Given the description of an element on the screen output the (x, y) to click on. 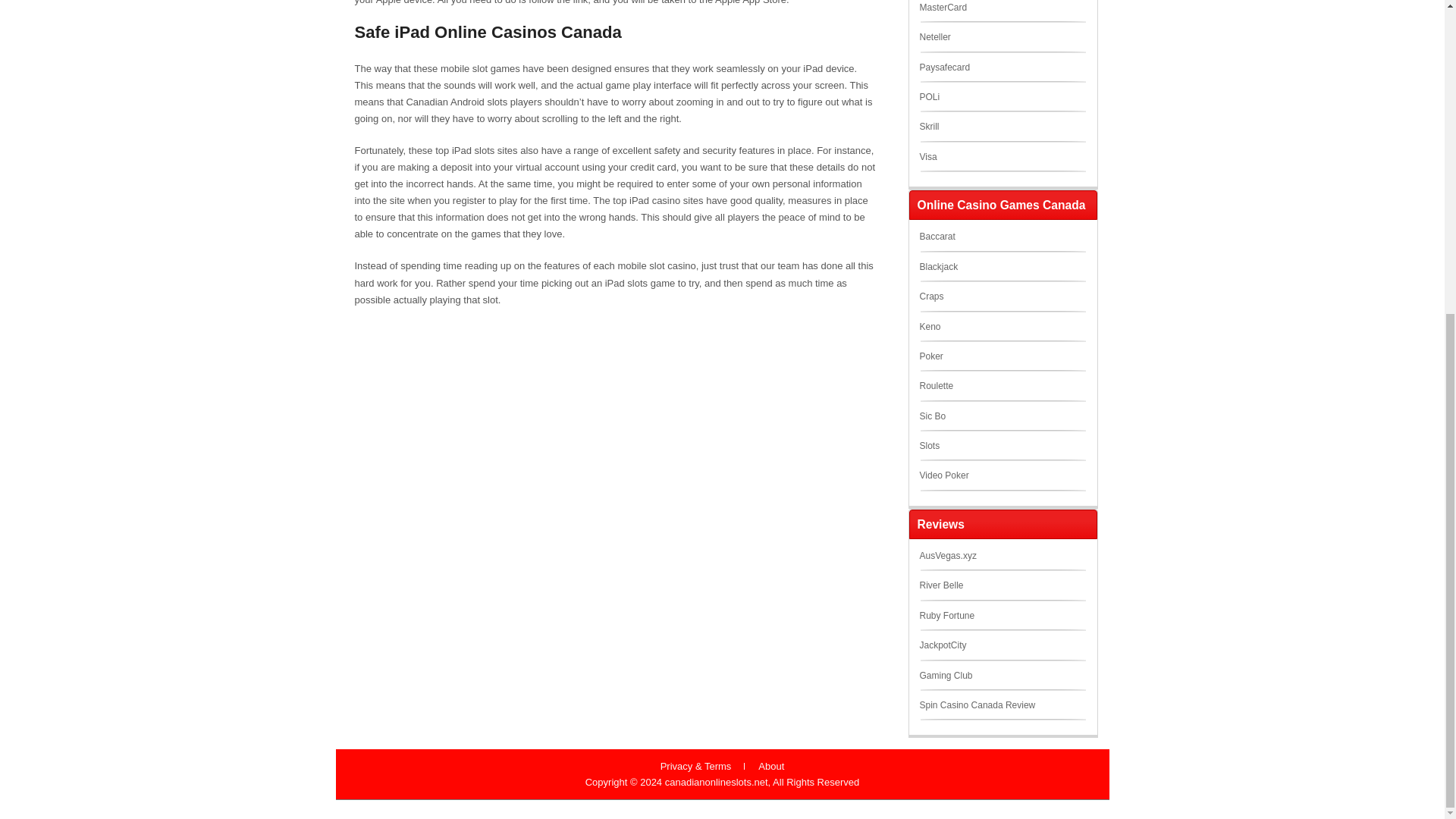
Visa (927, 156)
Ruby Fortune (946, 615)
Sic Bo (931, 416)
Skrill (928, 126)
MasterCard (942, 7)
River Belle (940, 584)
JackpotCity (942, 644)
Paysafecard (943, 67)
Craps (930, 296)
Neteller (934, 36)
